Given the description of an element on the screen output the (x, y) to click on. 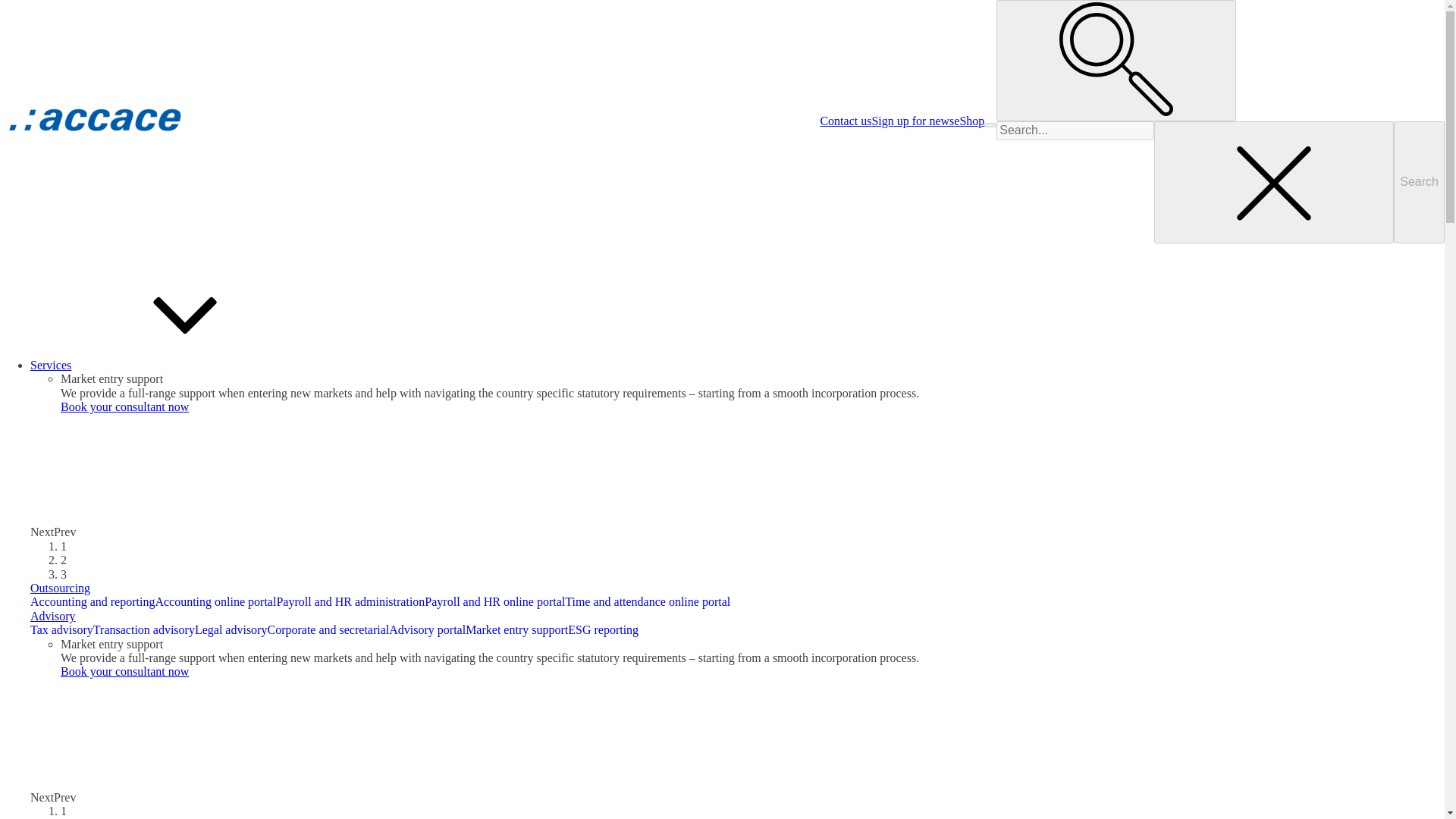
Outsourcing (60, 587)
Next (41, 531)
Corporate and secretarial (327, 630)
Time and attendance online portal (647, 602)
Prev (64, 531)
Contact us (844, 120)
Book your consultant now (125, 671)
Accounting online portal (215, 602)
Book your consultant now (125, 406)
Next (41, 797)
Payroll and HR administration (350, 602)
Advisory portal (426, 630)
Tax advisory (61, 630)
eShop (968, 120)
Accounting and reporting (92, 602)
